Given the description of an element on the screen output the (x, y) to click on. 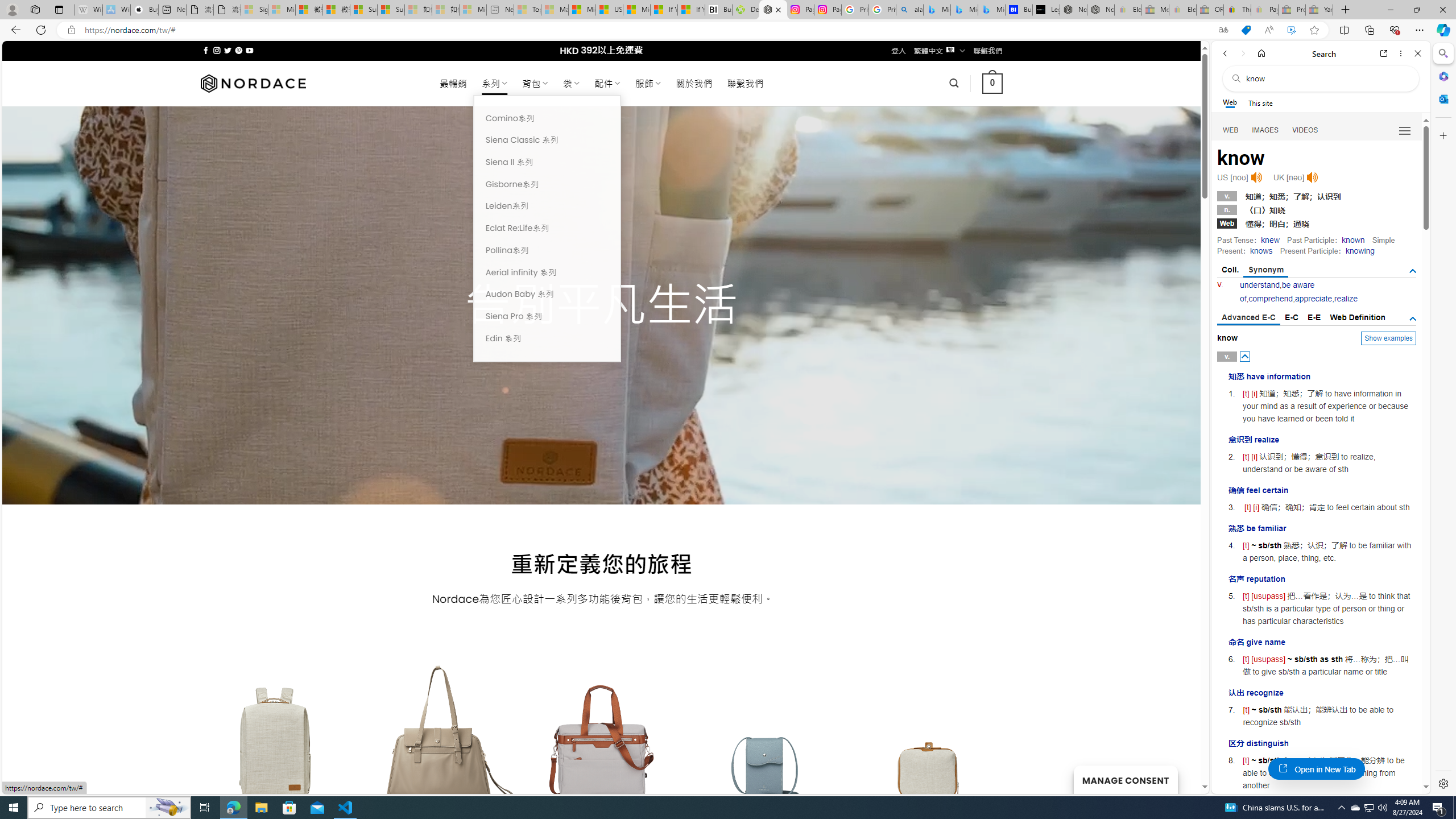
be aware of (1277, 291)
Enhance video (1291, 29)
Buy iPad - Apple (144, 9)
Follow on Instagram (216, 50)
US Heat Deaths Soared To Record High Last Year (609, 9)
